Given the description of an element on the screen output the (x, y) to click on. 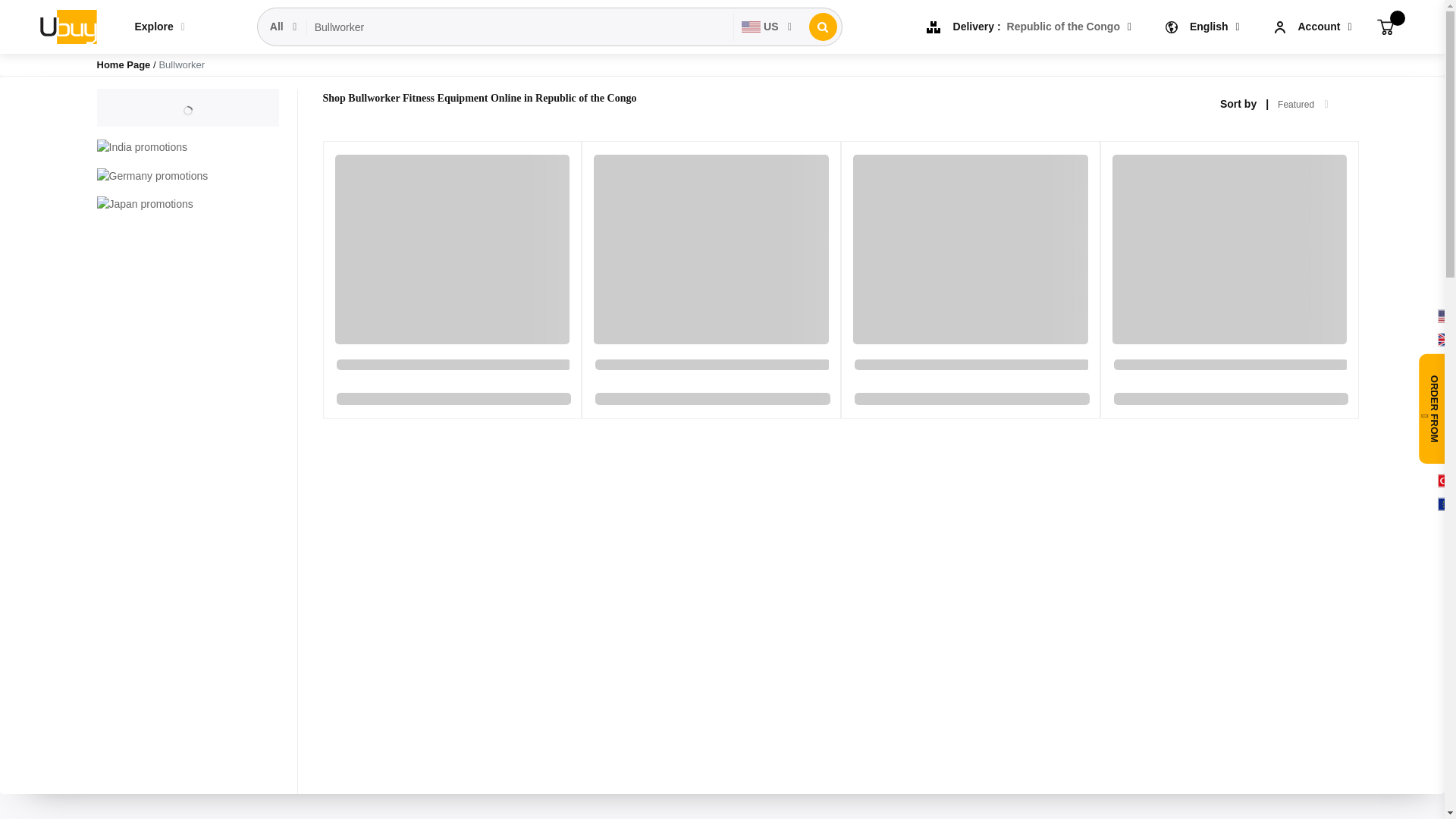
Bullworker (520, 26)
All (283, 26)
Ubuy (67, 26)
Home Page (124, 64)
Home Page (124, 64)
Bullworker (520, 26)
Cart (1385, 26)
US (766, 26)
